Given the description of an element on the screen output the (x, y) to click on. 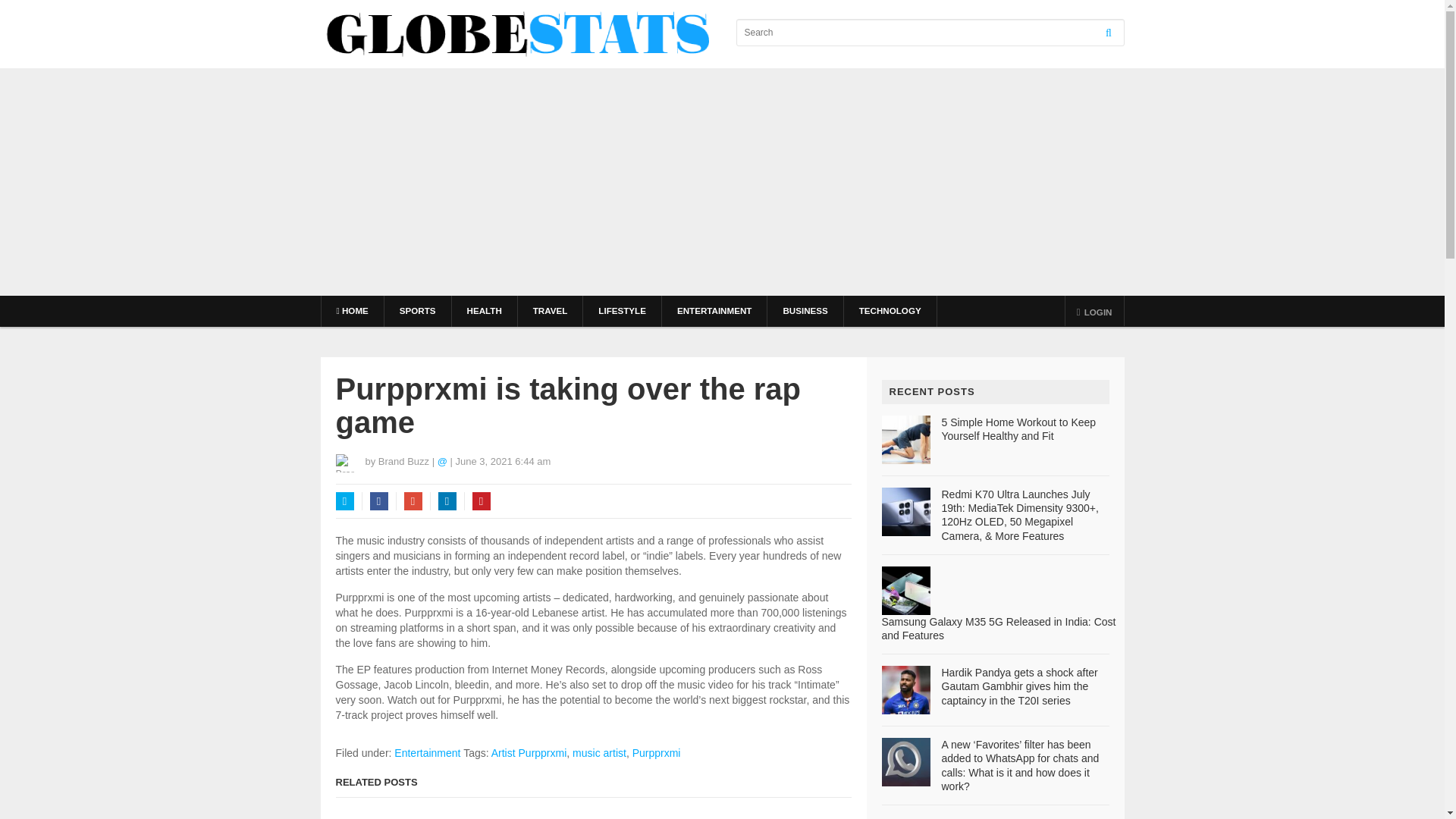
TECHNOLOGY (890, 310)
Artist Purpprxmi (529, 752)
Entertainment (427, 752)
Facebook (378, 501)
HEALTH (483, 310)
Twitter (343, 501)
LOGIN (1094, 310)
TRAVEL (550, 310)
music artist (599, 752)
LIFESTYLE (622, 310)
